Given the description of an element on the screen output the (x, y) to click on. 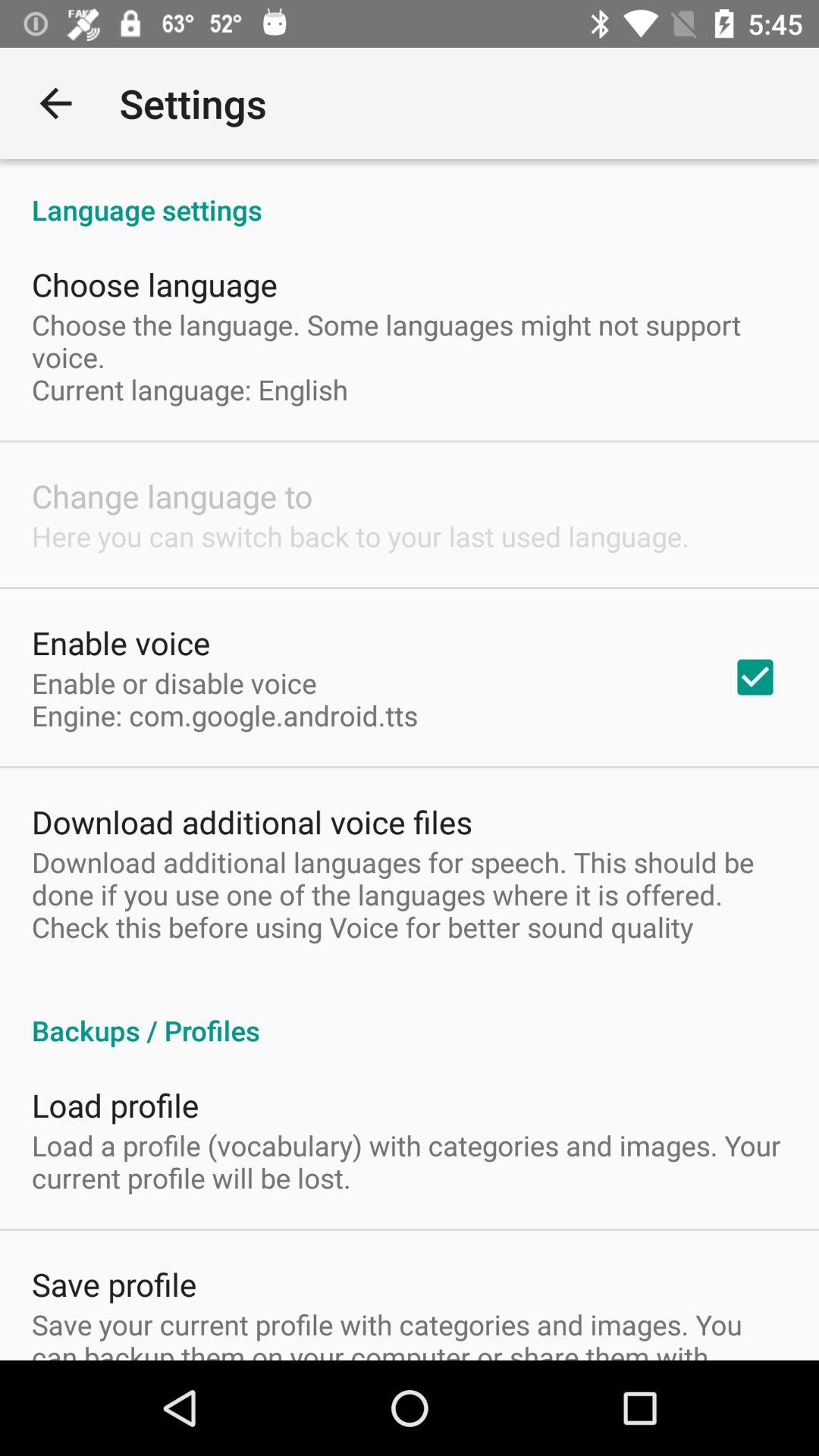
select item below download additional languages (409, 1014)
